Given the description of an element on the screen output the (x, y) to click on. 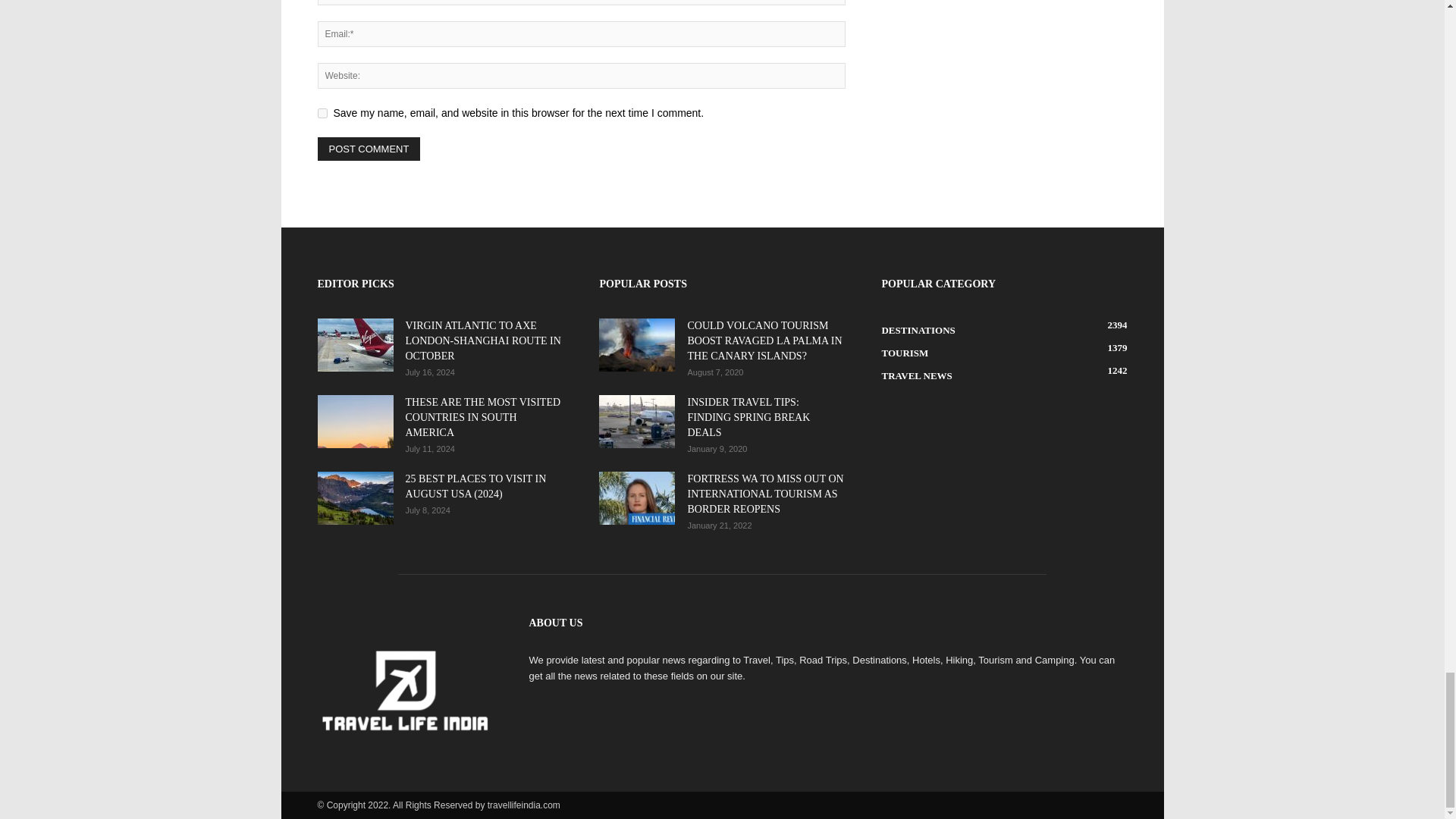
yes (321, 112)
Post Comment (368, 148)
